Given the description of an element on the screen output the (x, y) to click on. 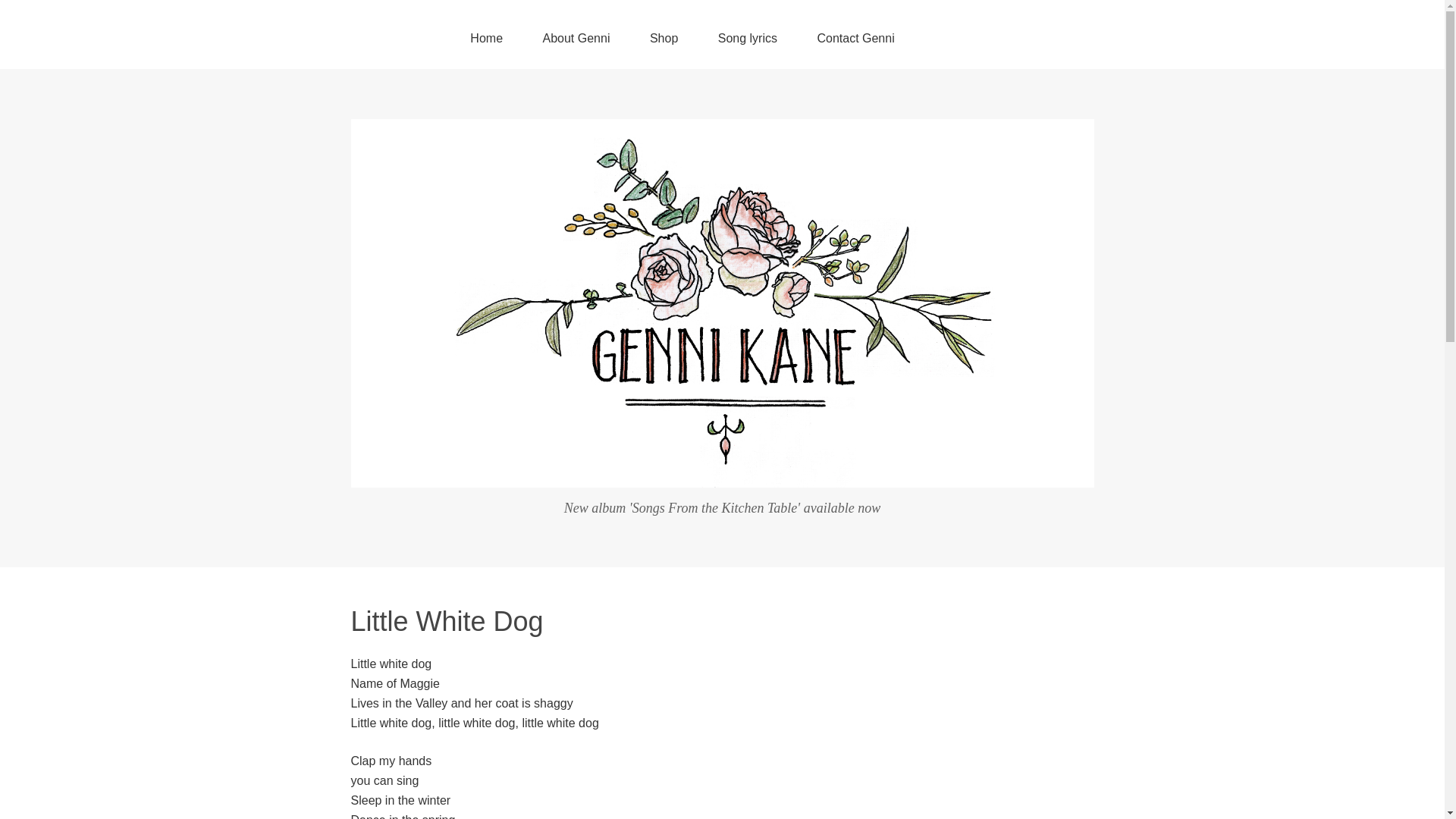
Home Element type: text (485, 38)
About Genni Element type: text (576, 38)
Shop Element type: text (663, 38)
Genni Kane Element type: hover (721, 475)
Song lyrics Element type: text (747, 38)
Contact Genni Element type: text (855, 38)
